Given the description of an element on the screen output the (x, y) to click on. 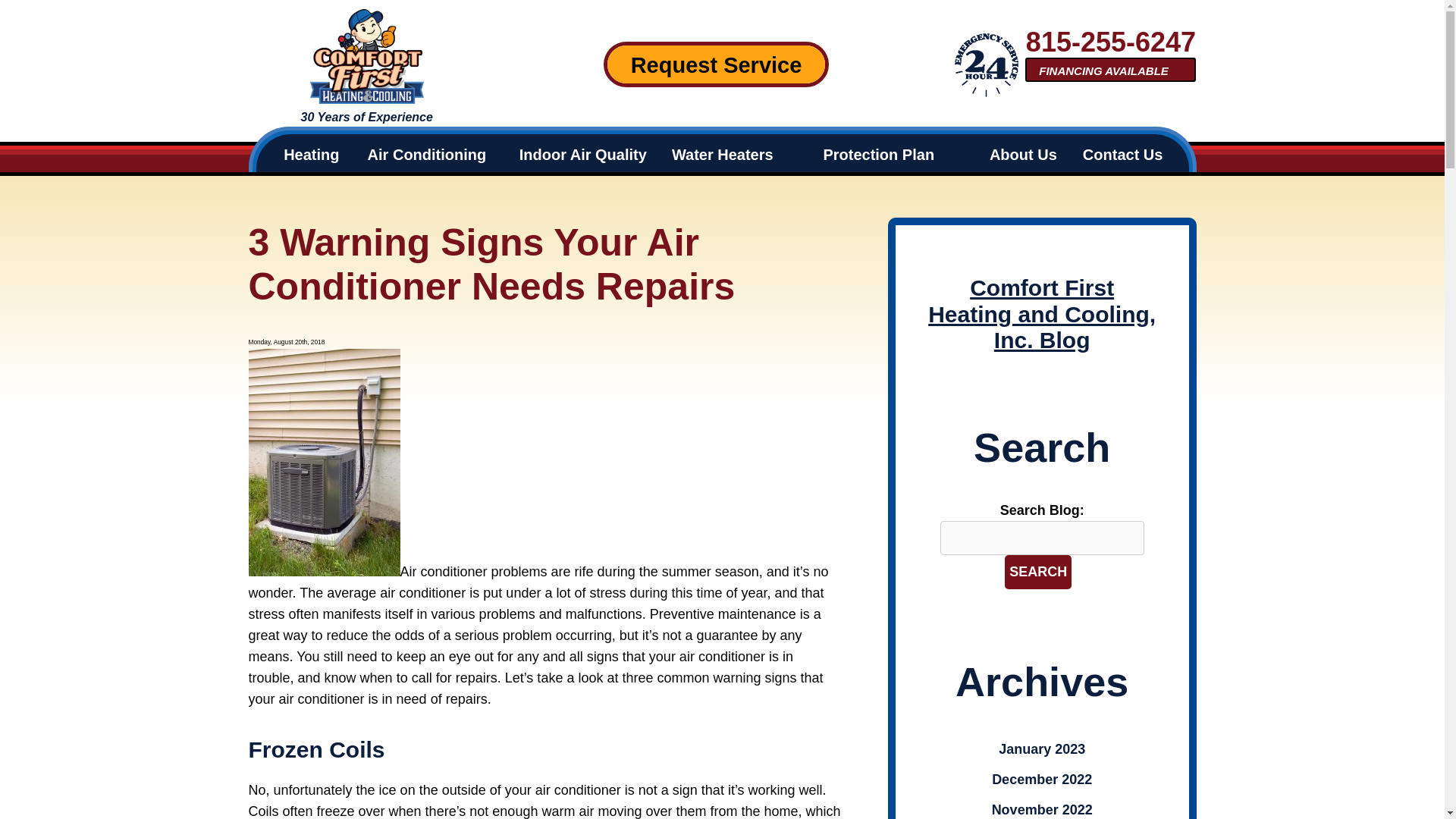
Water Heaters (721, 152)
Air Conditioning (427, 152)
About Us (1023, 152)
Indoor Air Quality (581, 152)
Request Service (716, 64)
Protection Plan (878, 152)
Heating (311, 152)
FINANCING AVAILABLE (1110, 69)
815-255-6247 (1110, 41)
